Given the description of an element on the screen output the (x, y) to click on. 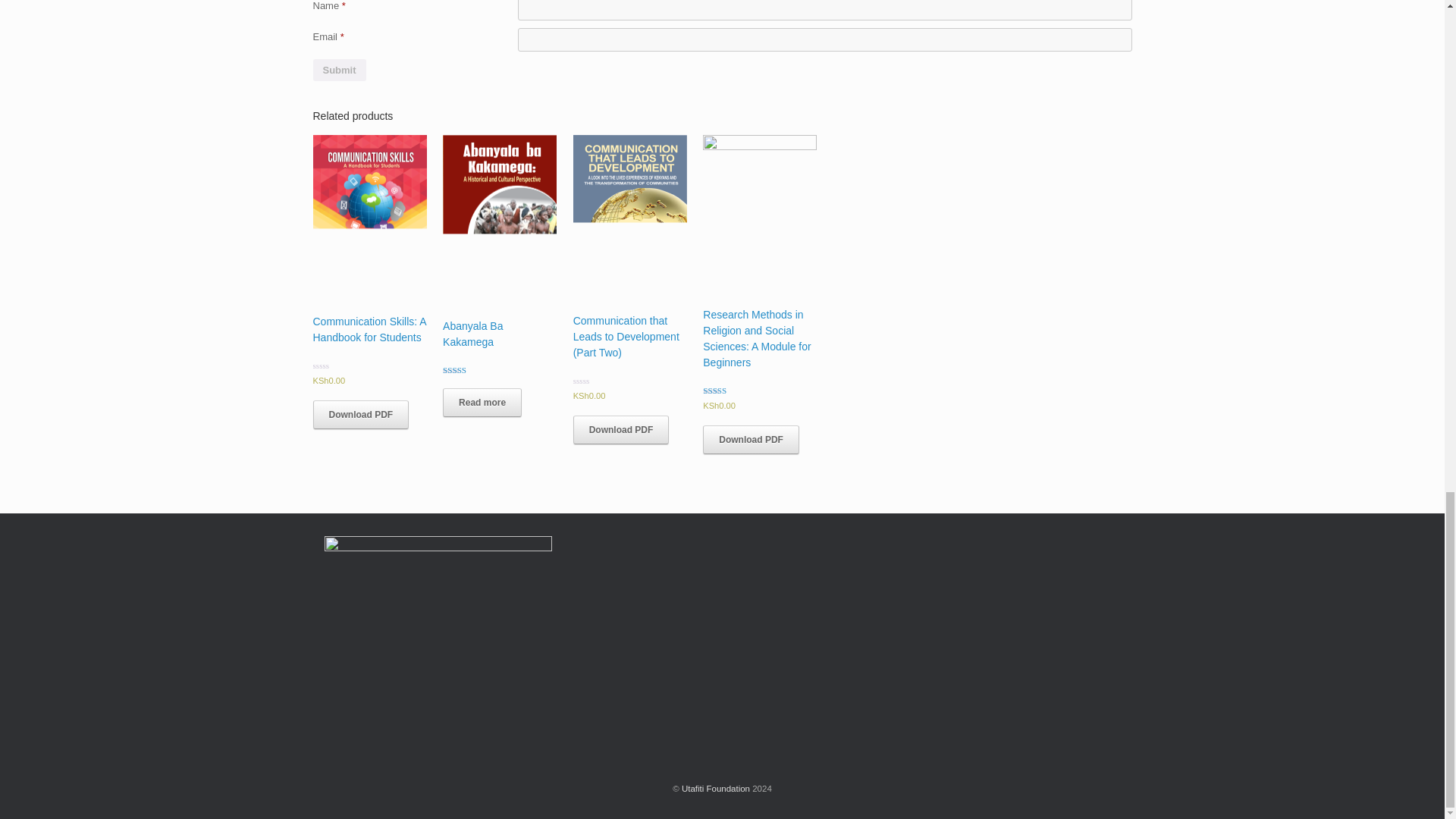
Download PDF (621, 429)
Download PDF (751, 439)
Submit (339, 69)
Download PDF (361, 414)
Read more (481, 402)
Utafiti Foundation (715, 788)
Submit (339, 69)
